Given the description of an element on the screen output the (x, y) to click on. 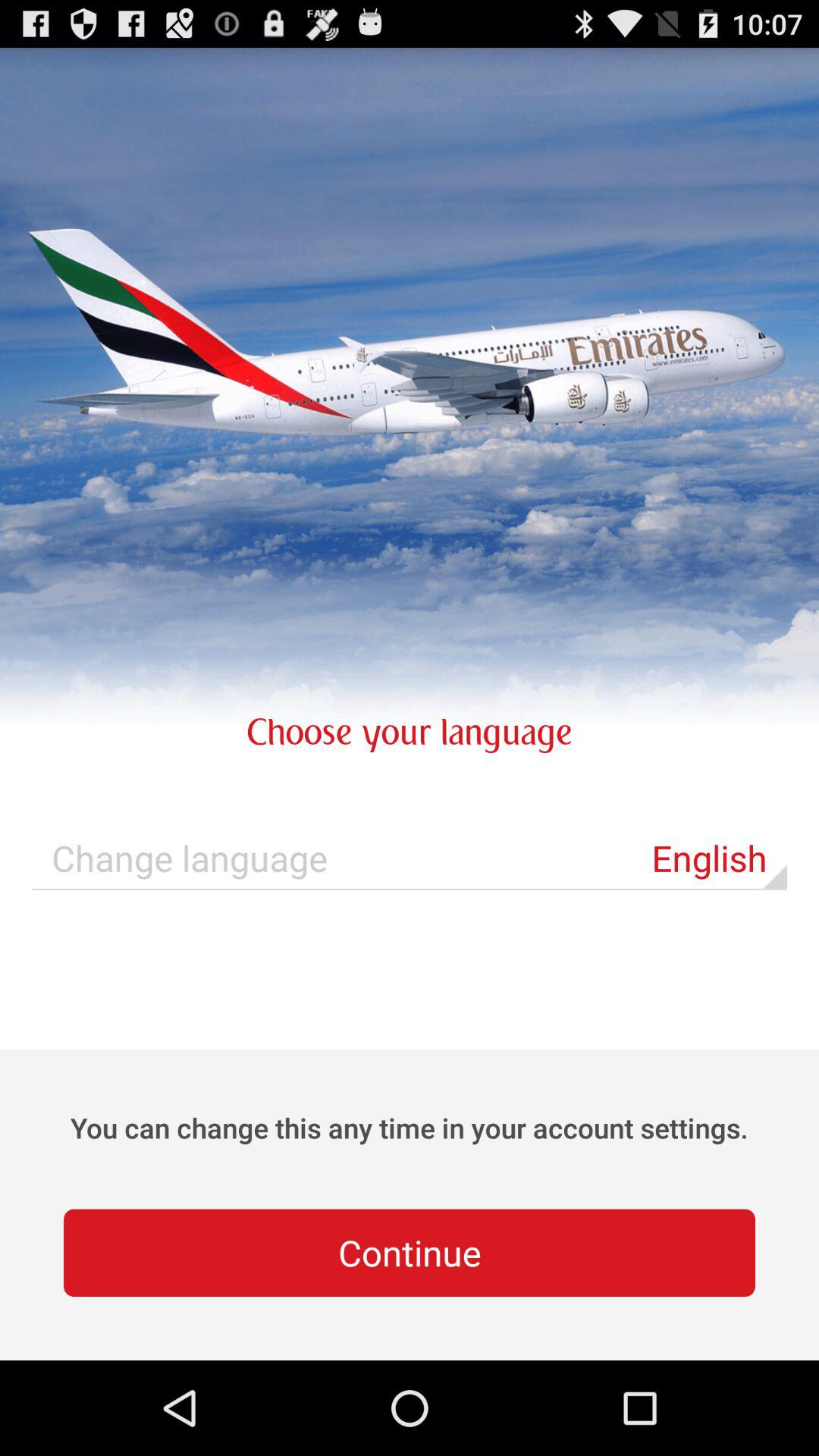
choose icon below you can change app (409, 1252)
